Given the description of an element on the screen output the (x, y) to click on. 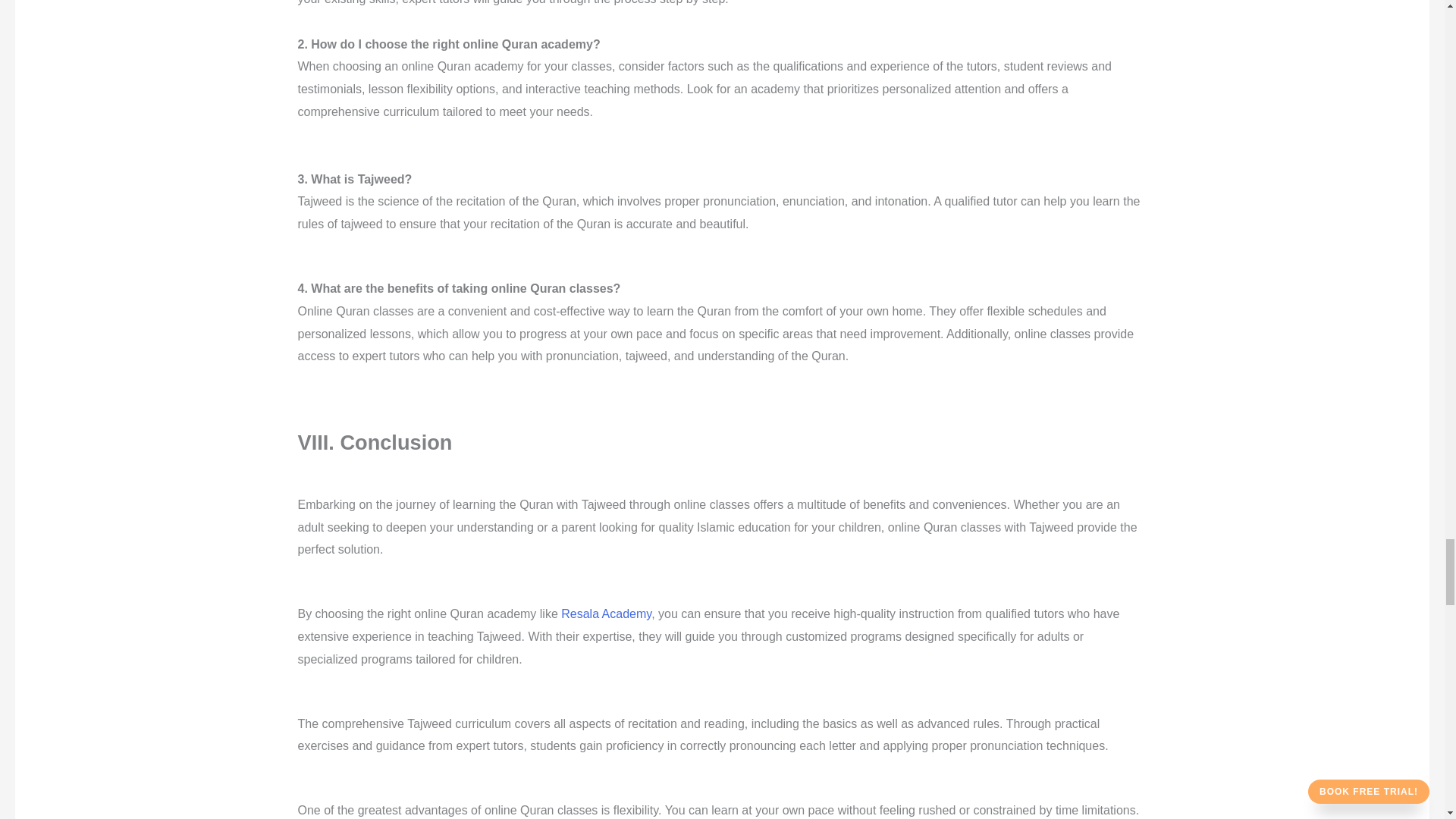
Resala Academy (605, 613)
